Given the description of an element on the screen output the (x, y) to click on. 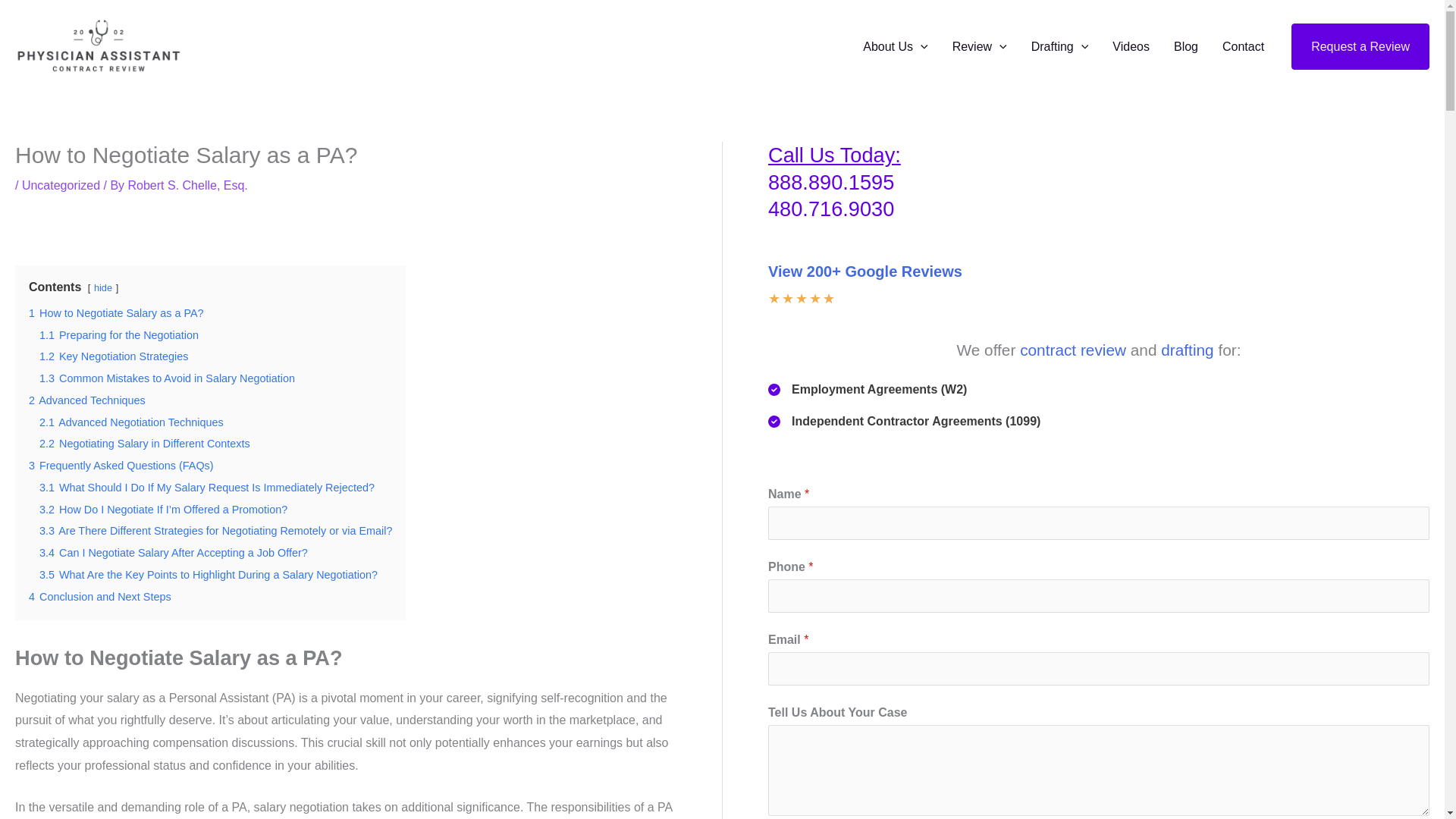
About Us (894, 46)
Drafting (1059, 46)
Request a Review (1360, 46)
Robert S. Chelle, Esq. (187, 185)
View all posts by Robert S. Chelle, Esq. (187, 185)
Uncategorized (60, 185)
Review (979, 46)
Blog (1185, 46)
Contact (1242, 46)
Videos (1130, 46)
